Given the description of an element on the screen output the (x, y) to click on. 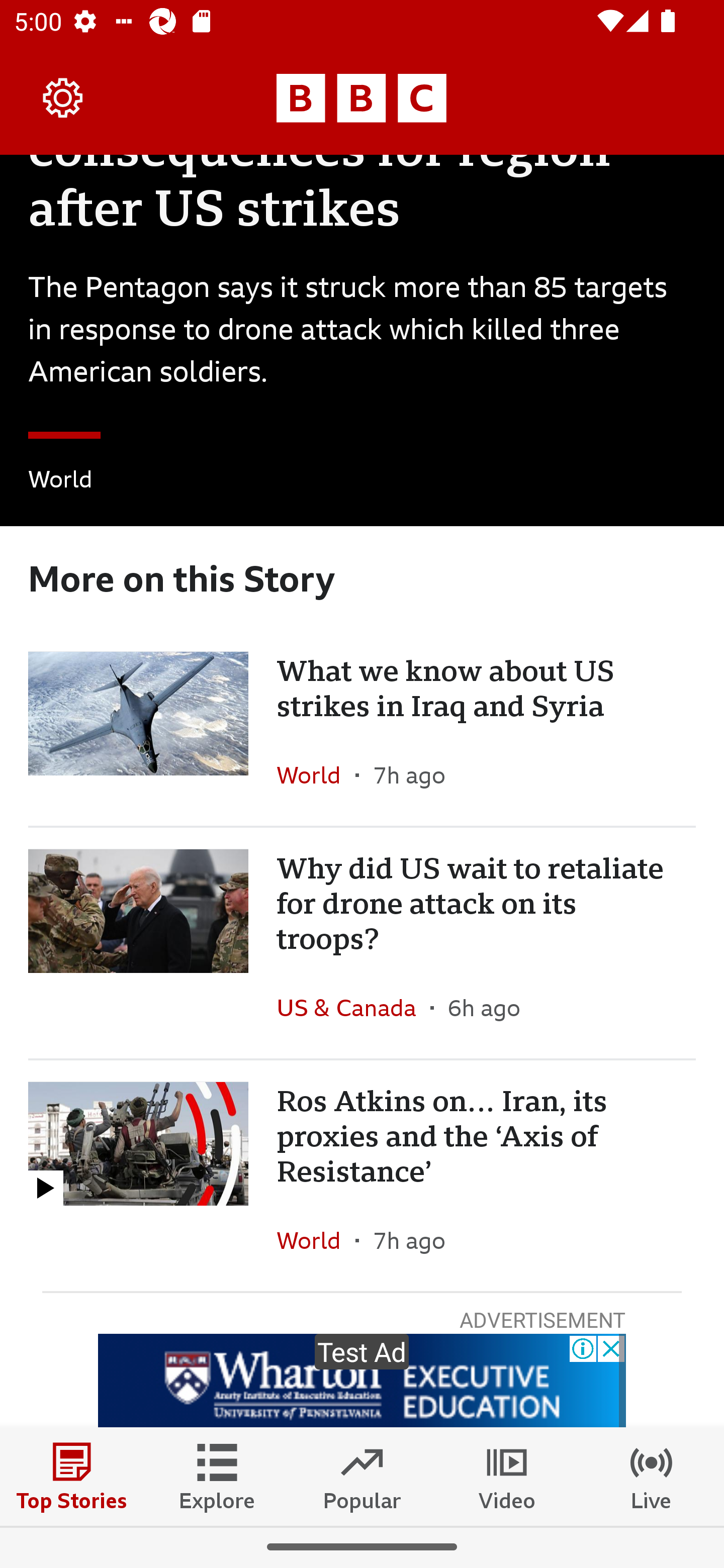
Settings (63, 97)
World In the section World (60, 482)
World In the section World (315, 775)
US & Canada In the section US & Canada (353, 1007)
World In the section World (315, 1240)
Explore (216, 1475)
Popular (361, 1475)
Video (506, 1475)
Live (651, 1475)
